Given the description of an element on the screen output the (x, y) to click on. 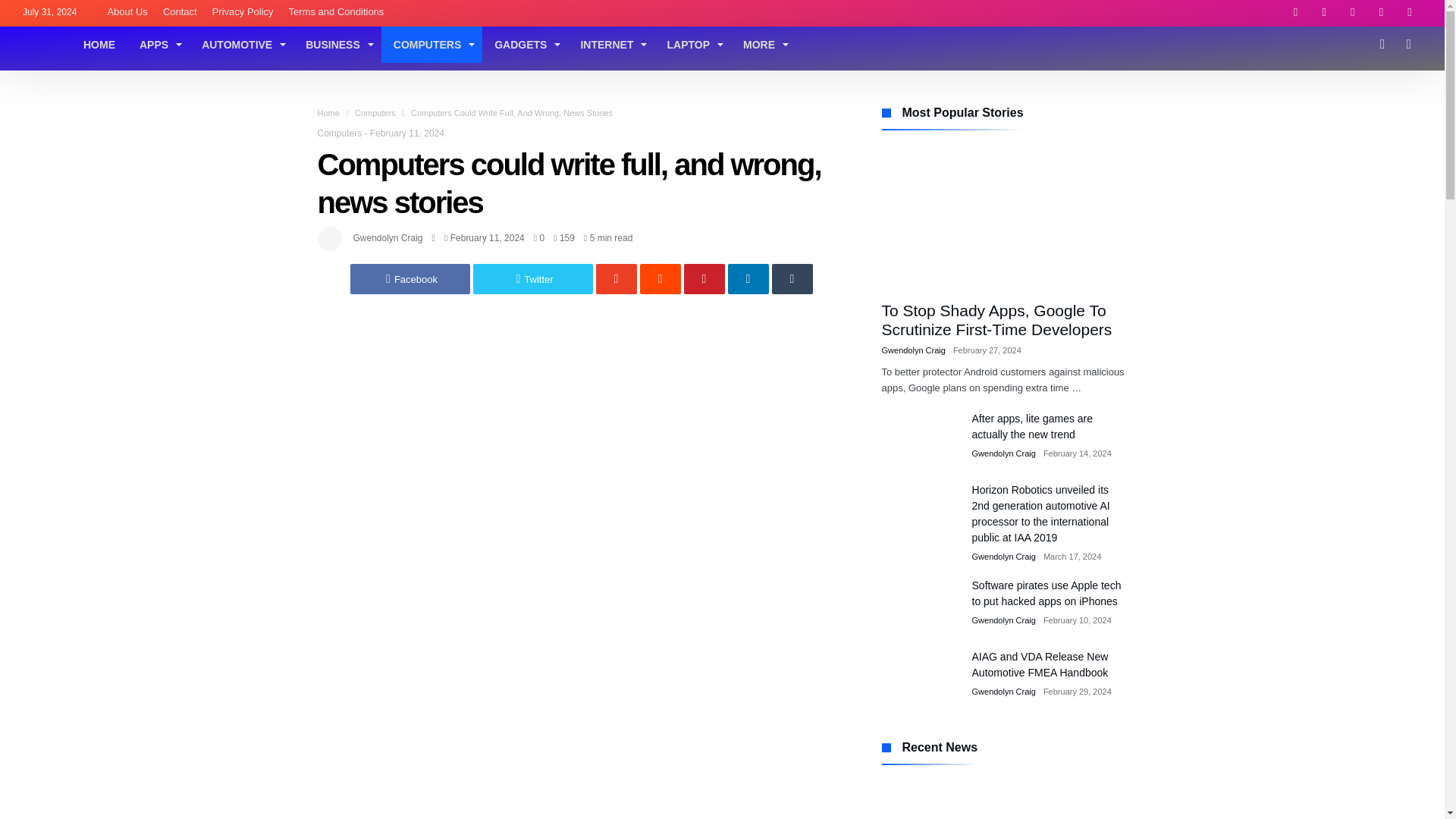
instagram (1409, 13)
AUTOMOTIVE (241, 44)
APPS (158, 44)
Privacy Policy (243, 12)
Contact (180, 12)
Digi Rence (39, 30)
Youtube (1380, 13)
About Us (126, 12)
Facebook (1294, 13)
Terms and Conditions (336, 12)
BUSINESS (337, 44)
HOME (99, 44)
Twitter (1323, 13)
